Given the description of an element on the screen output the (x, y) to click on. 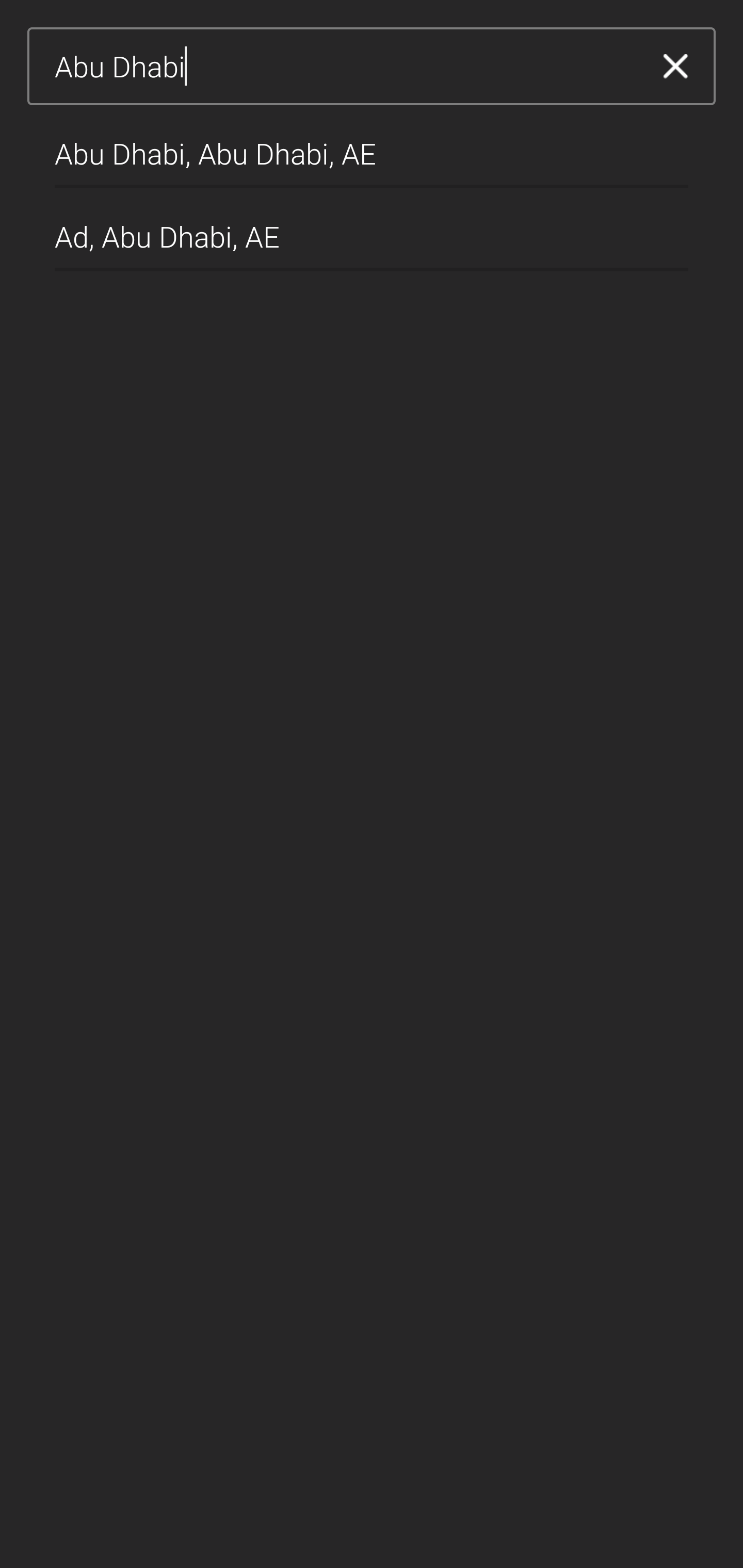
Abu Dhabi (345, 66)
Abu Dhabi, Abu Dhabi, AE (371, 146)
Ad, Abu Dhabi, AE (371, 229)
